Given the description of an element on the screen output the (x, y) to click on. 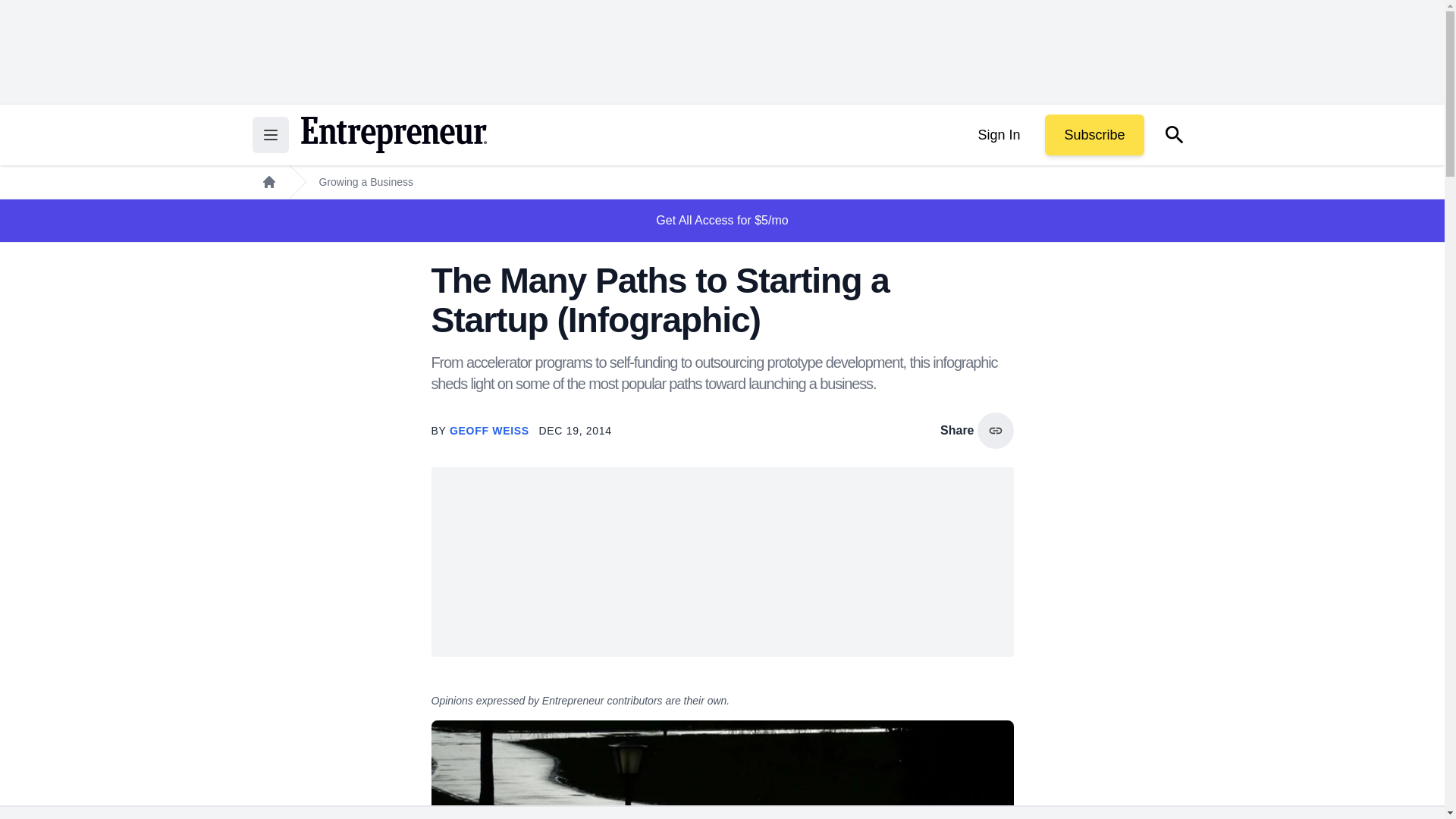
Subscribe (1093, 134)
copy (994, 430)
Sign In (998, 134)
Return to the home page (392, 135)
